Given the description of an element on the screen output the (x, y) to click on. 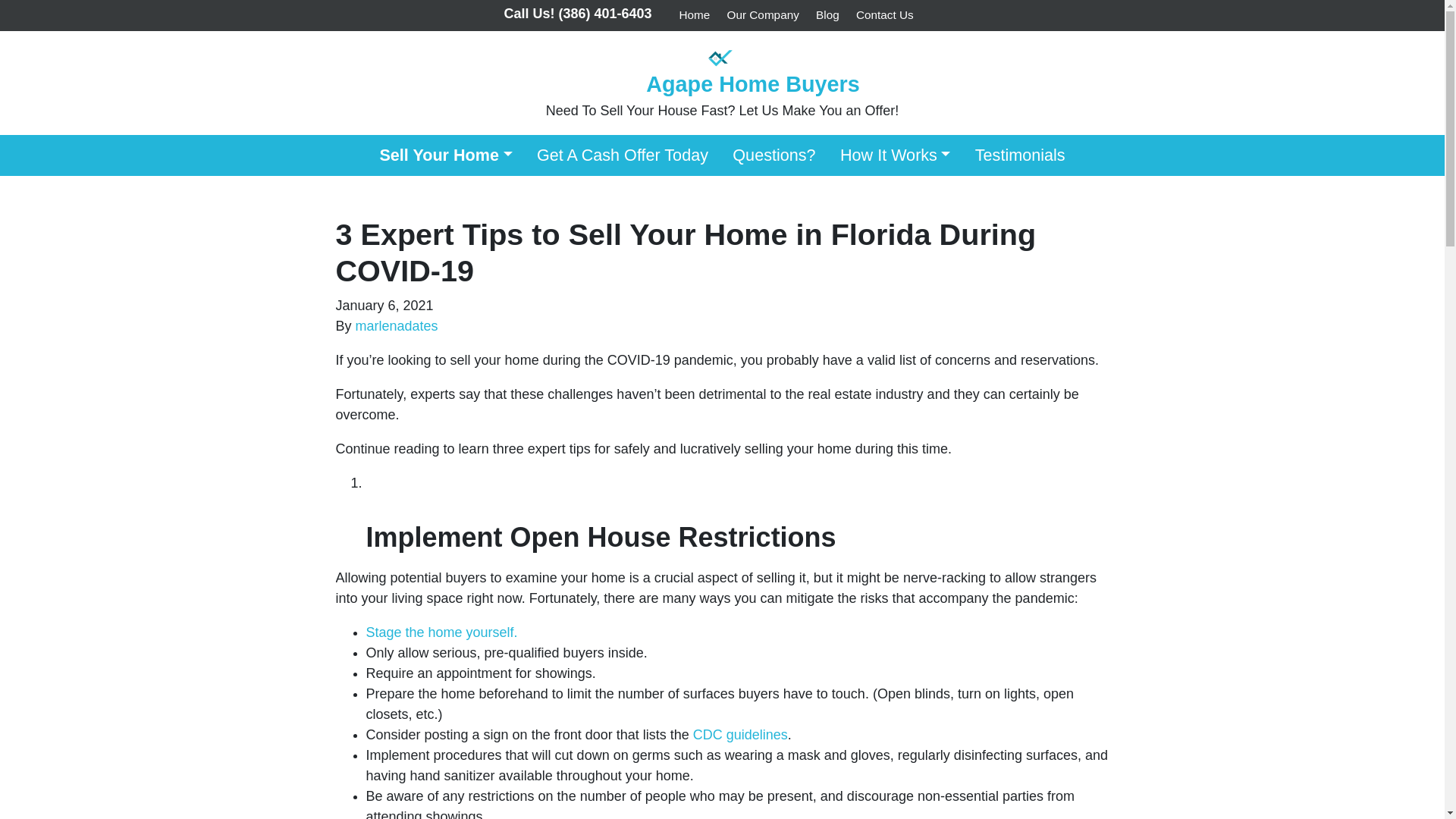
CDC guidelines (737, 734)
Get A Cash Offer Today (622, 155)
Sell Your Home (445, 155)
Testimonials (1019, 155)
Home (694, 15)
Blog (827, 15)
How It Works (895, 155)
Contact Us (884, 15)
How It Works (895, 155)
Testimonials (1019, 155)
marlenadates (396, 325)
Questions? (774, 155)
Get A Cash Offer Today (622, 155)
Questions? (774, 155)
